Given the description of an element on the screen output the (x, y) to click on. 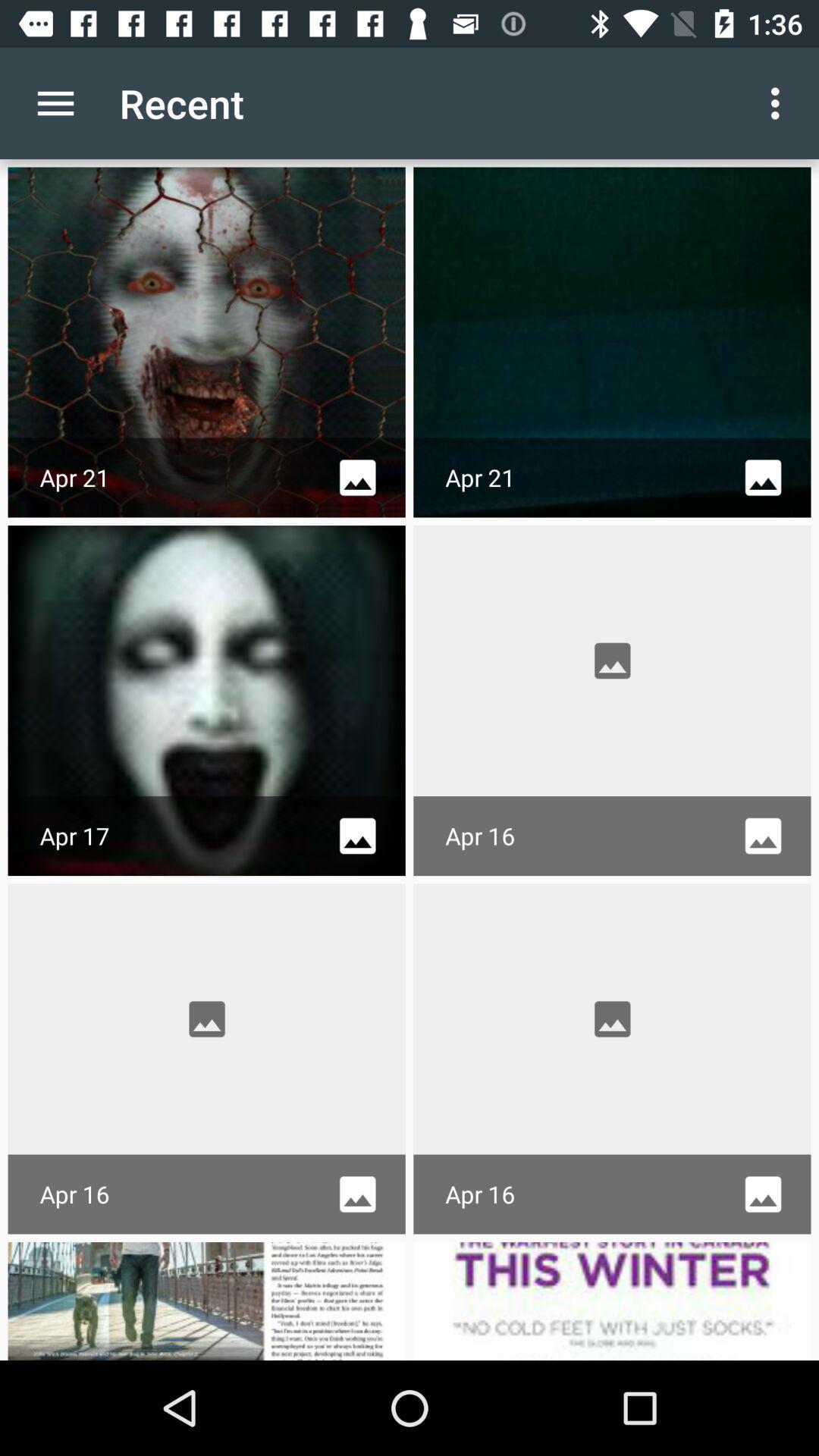
choose second row second frame (612, 700)
select the image below april 16 (206, 1300)
select the image icon of apr 17 (357, 836)
click on image icon beside apr 16 (357, 1194)
select the image in which dog appears (206, 1300)
